Given the description of an element on the screen output the (x, y) to click on. 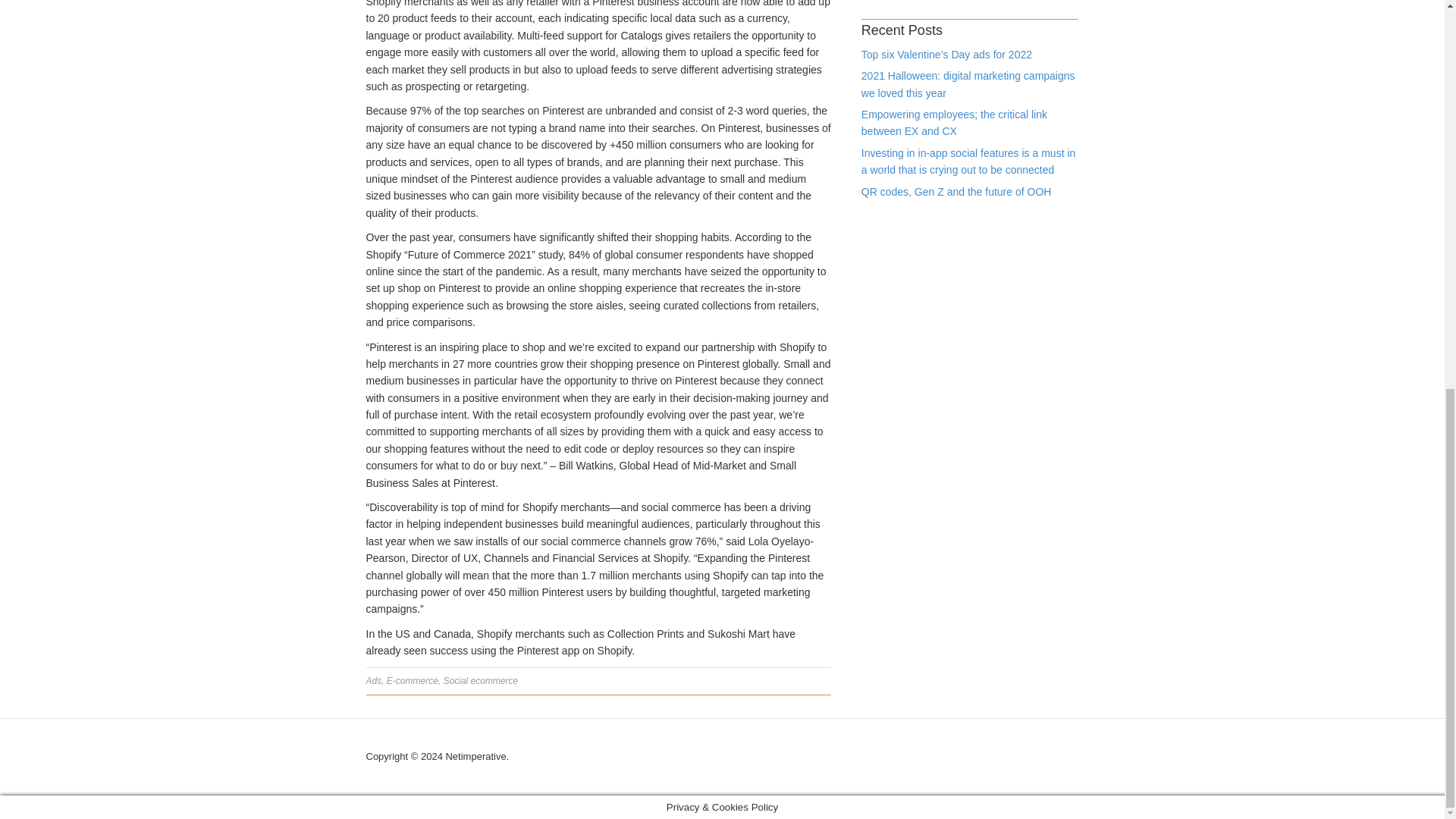
Ads (373, 680)
E-commerce (412, 680)
Social (456, 680)
ecommerce (494, 680)
